Given the description of an element on the screen output the (x, y) to click on. 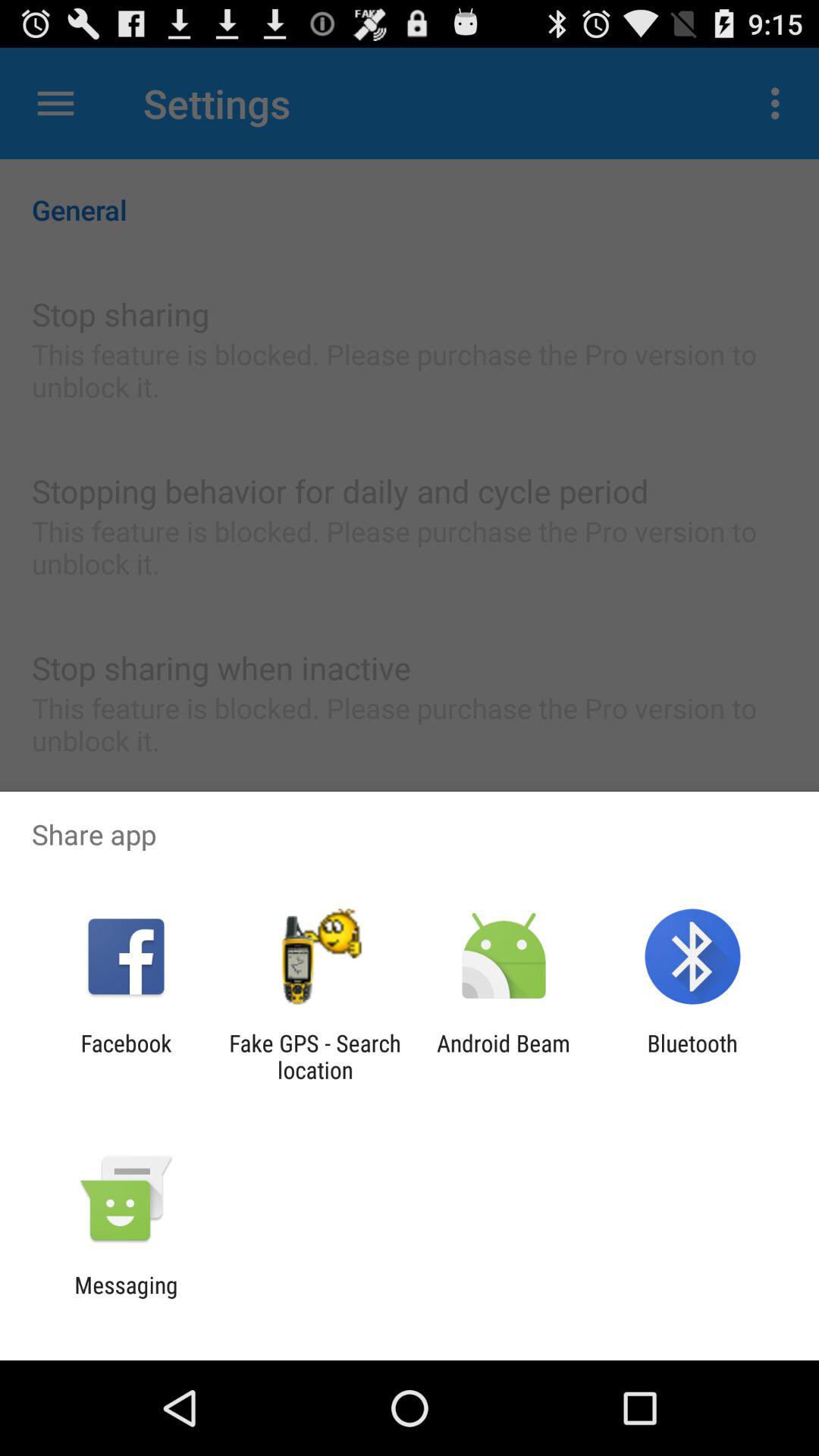
launch app to the right of android beam item (692, 1056)
